Given the description of an element on the screen output the (x, y) to click on. 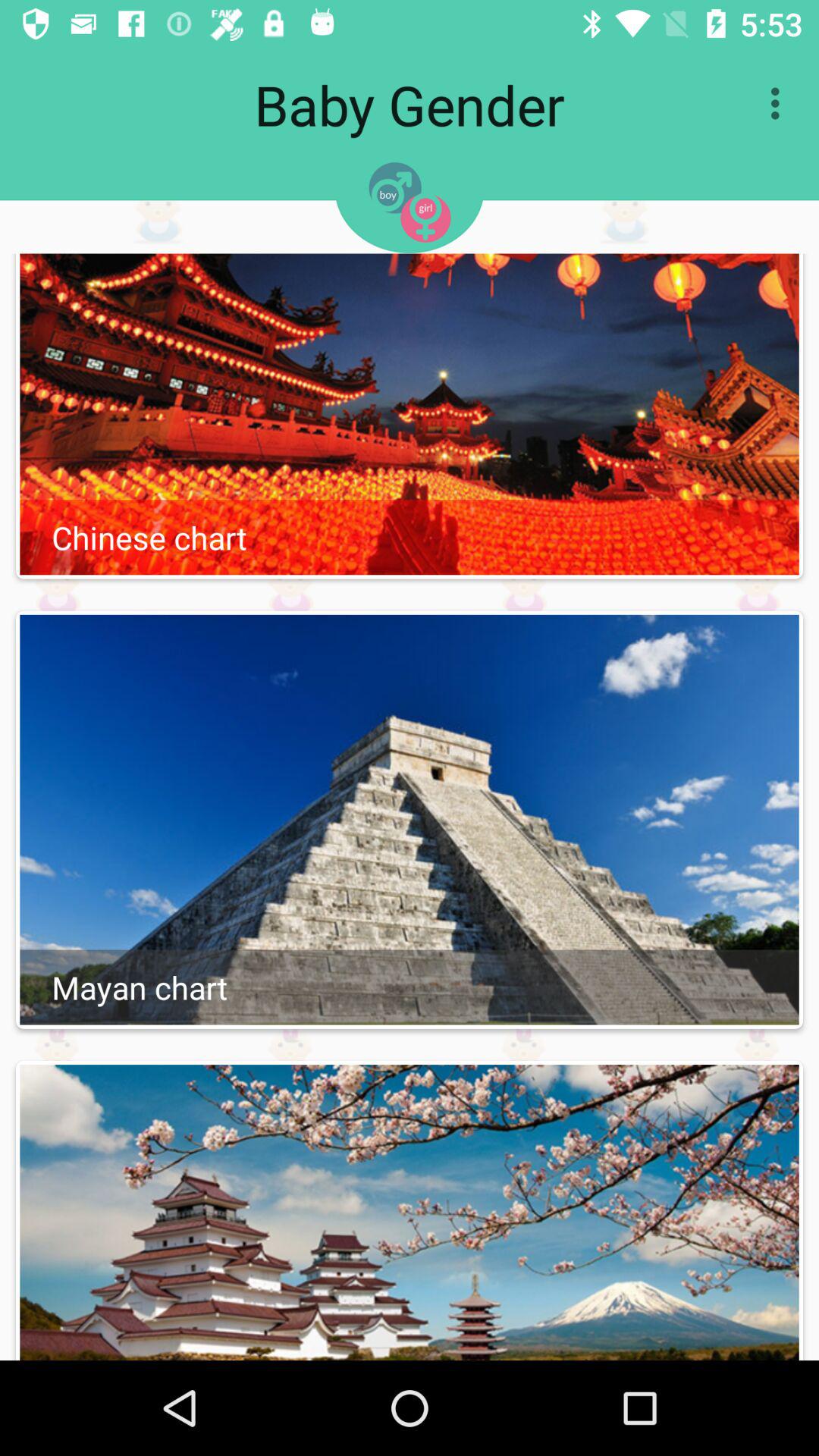
turn on the item at the top right corner (779, 103)
